Given the description of an element on the screen output the (x, y) to click on. 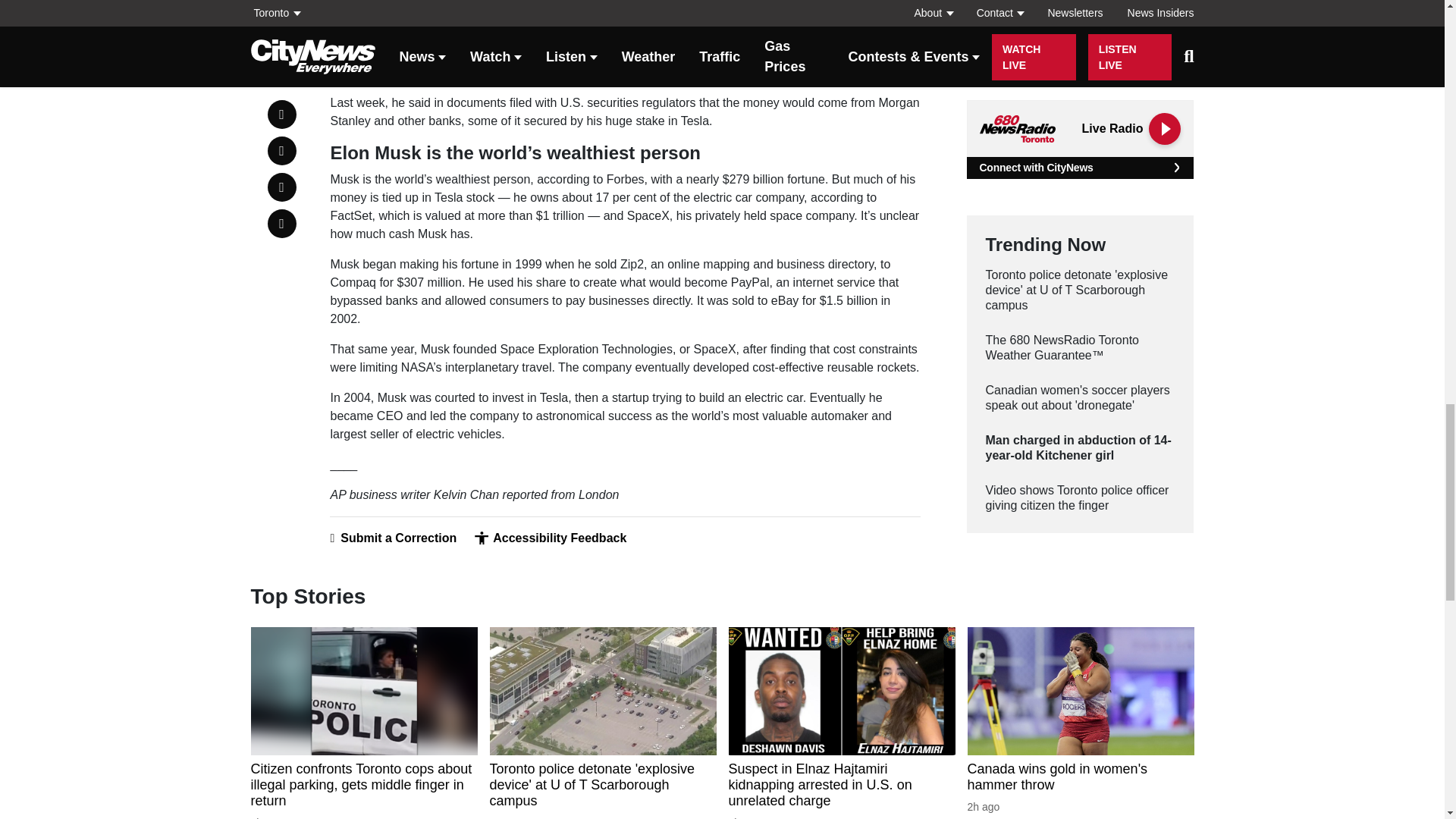
Submit a Correction (393, 537)
Accessibility Feedback (550, 537)
